Given the description of an element on the screen output the (x, y) to click on. 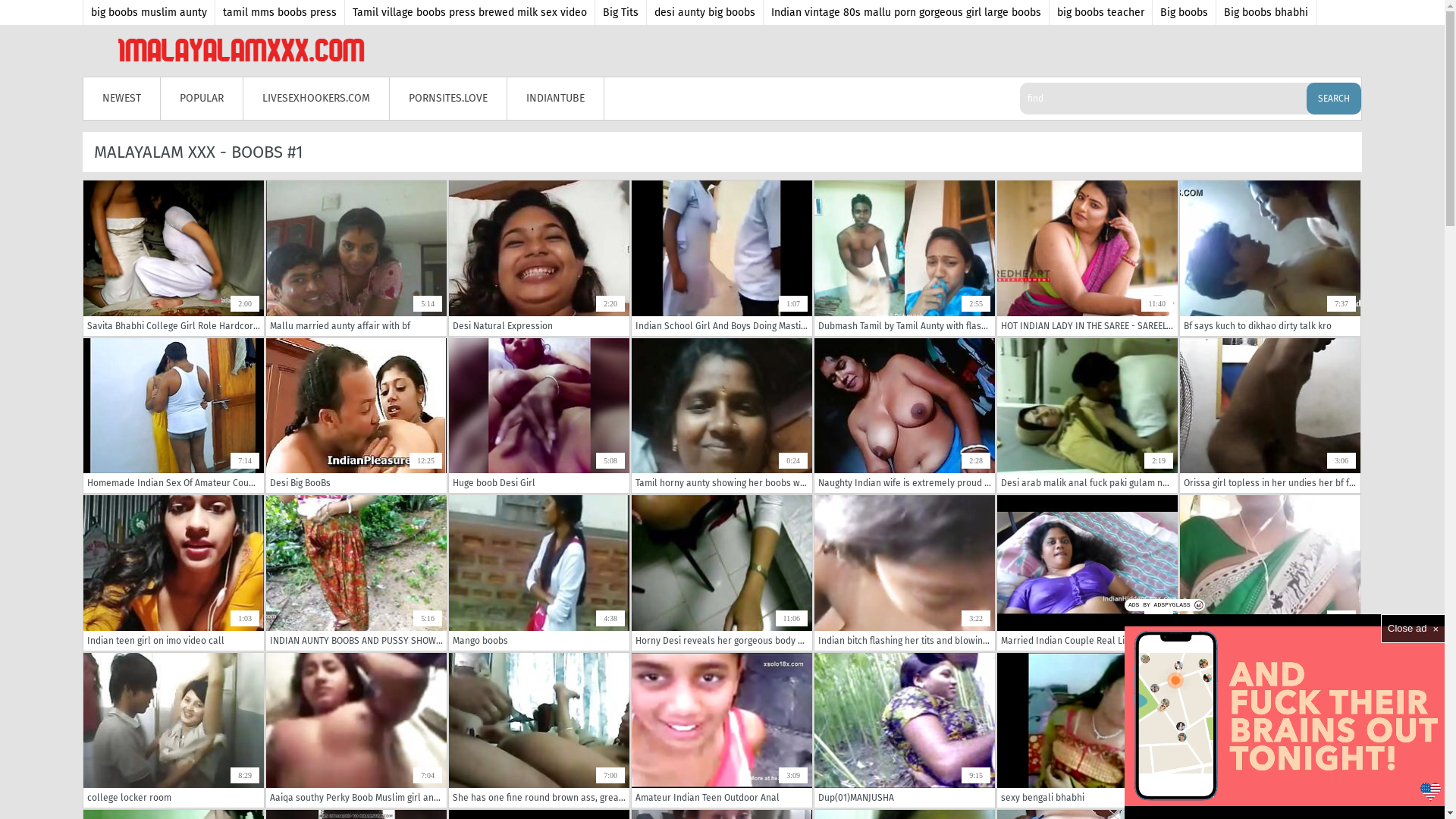
POPULAR Element type: text (201, 98)
11:06
Horny Desi reveals her gorgeous body and fkd Element type: text (721, 572)
desi aunty big boobs Element type: text (704, 12)
Indian vintage 80s mallu porn gorgeous girl large boobs Element type: text (906, 12)
3:22
Indian bitch flashing her tits and blowing a cock. Element type: text (904, 572)
12:25
Desi Big BooBs Element type: text (356, 415)
LIVESEXHOOKERS.COM Element type: text (316, 98)
2:55
Dubmash Tamil by Tamil Aunty with flashing boobs Element type: text (904, 257)
4:38
Mango boobs Element type: text (538, 572)
5:08
Huge boob Desi Girl Element type: text (538, 415)
5:36
Married Indian Couple Real Life Sex Video Element type: text (1087, 572)
0:41
sexy bengali bhabhi Element type: text (1087, 729)
Big boobs Element type: text (1184, 12)
2:28
Naughty Indian wife is extremely proud of her huge tits Element type: text (904, 415)
Tamil village boobs press brewed milk sex video Element type: text (470, 12)
ADS BY ADSPYGLASS Element type: text (1164, 605)
2:20
Desi Natural Expression Element type: text (538, 257)
PORNSITES.LOVE Element type: text (448, 98)
SEARCH Element type: text (1333, 98)
7:37
Bf says kuch to dikhao dirty talk kro Element type: text (1269, 257)
5:14
Mallu married aunty affair with bf Element type: text (356, 257)
5:16
INDIAN AUNTY BOOBS AND PUSSY SHOW WITHOUT FACE Element type: text (356, 572)
11:40
HOT INDIAN LADY IN THE SAREE - SAREELOVER - NANCY Element type: text (1087, 257)
big boobs muslim aunty Element type: text (149, 12)
big boobs teacher Element type: text (1100, 12)
0:24
Tamil horny aunty showing her boobs with audio Element type: text (721, 415)
3:09
Amateur Indian Teen Outdoor Anal Element type: text (721, 729)
tamil mms boobs press Element type: text (280, 12)
INDIANTUBE Element type: text (555, 98)
Big boobs bhabhi Element type: text (1266, 12)
Big Tits Element type: text (620, 12)
2:00
Savita Bhabhi College Girl Role Hardcore Fuck Element type: text (173, 257)
8:29
college locker room Element type: text (173, 729)
7:14
Homemade Indian Sex Of Amateur Couple Rajesh &_ Aarti Element type: text (173, 415)
NEWEST Element type: text (121, 98)
9:15
Dup(01)MANJUSHA Element type: text (904, 729)
1:25
Tamil hot teacher showing her boobs and navel to her bf Element type: text (1269, 572)
1:03
Indian teen girl on imo video call Element type: text (173, 572)
